Given the description of an element on the screen output the (x, y) to click on. 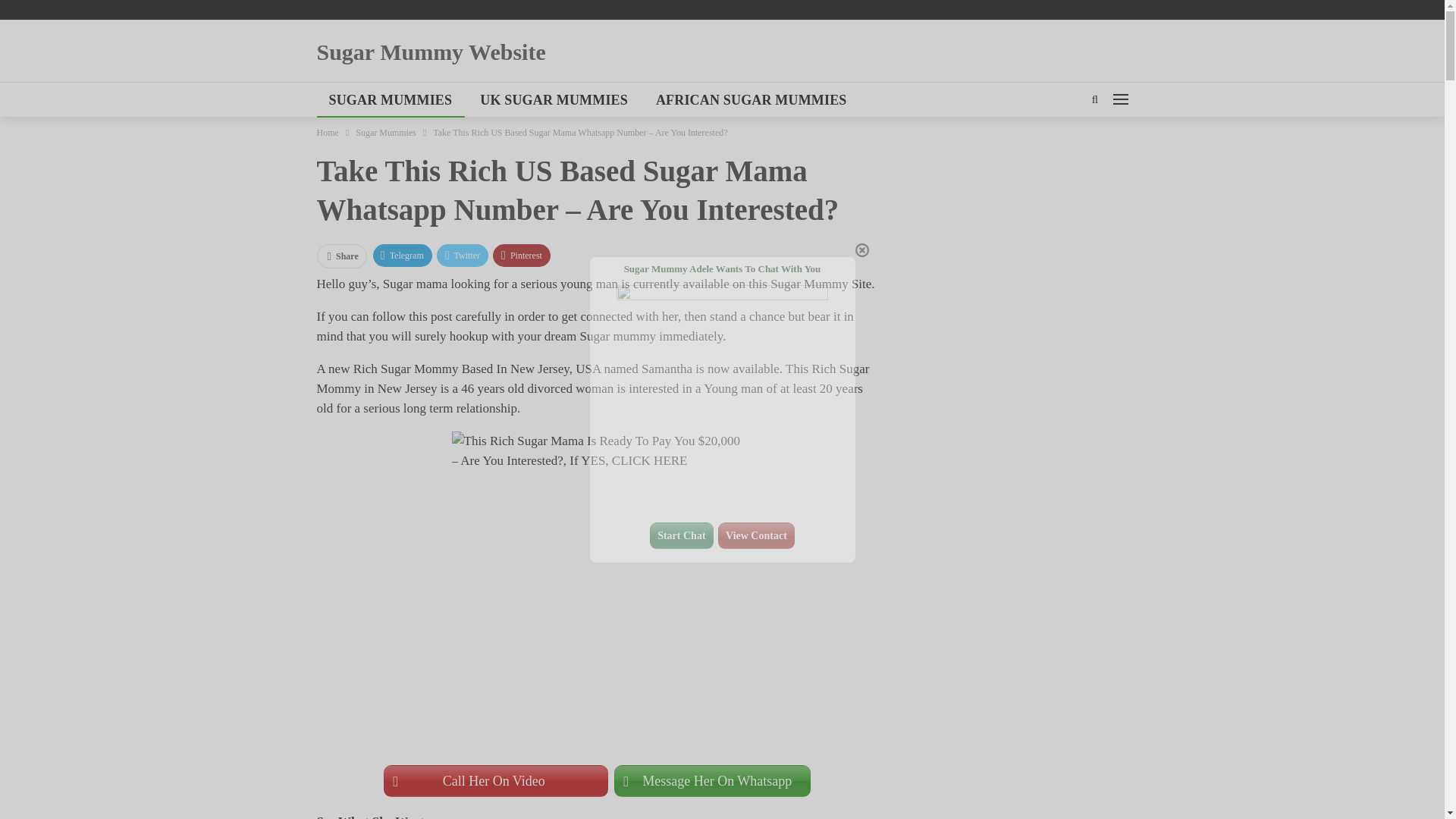
Pinterest (521, 255)
UK SUGAR MUMMIES (553, 100)
Telegram (402, 255)
  Message Her On Whatsapp    (712, 780)
SUGAR MUMMIES (390, 100)
           Call Her On Video                 (496, 780)
AFRICAN SUGAR MUMMIES (751, 100)
Sugar Mummies (385, 132)
Twitter (461, 255)
Home (328, 132)
Sugar Mummy Website (431, 51)
